Given the description of an element on the screen output the (x, y) to click on. 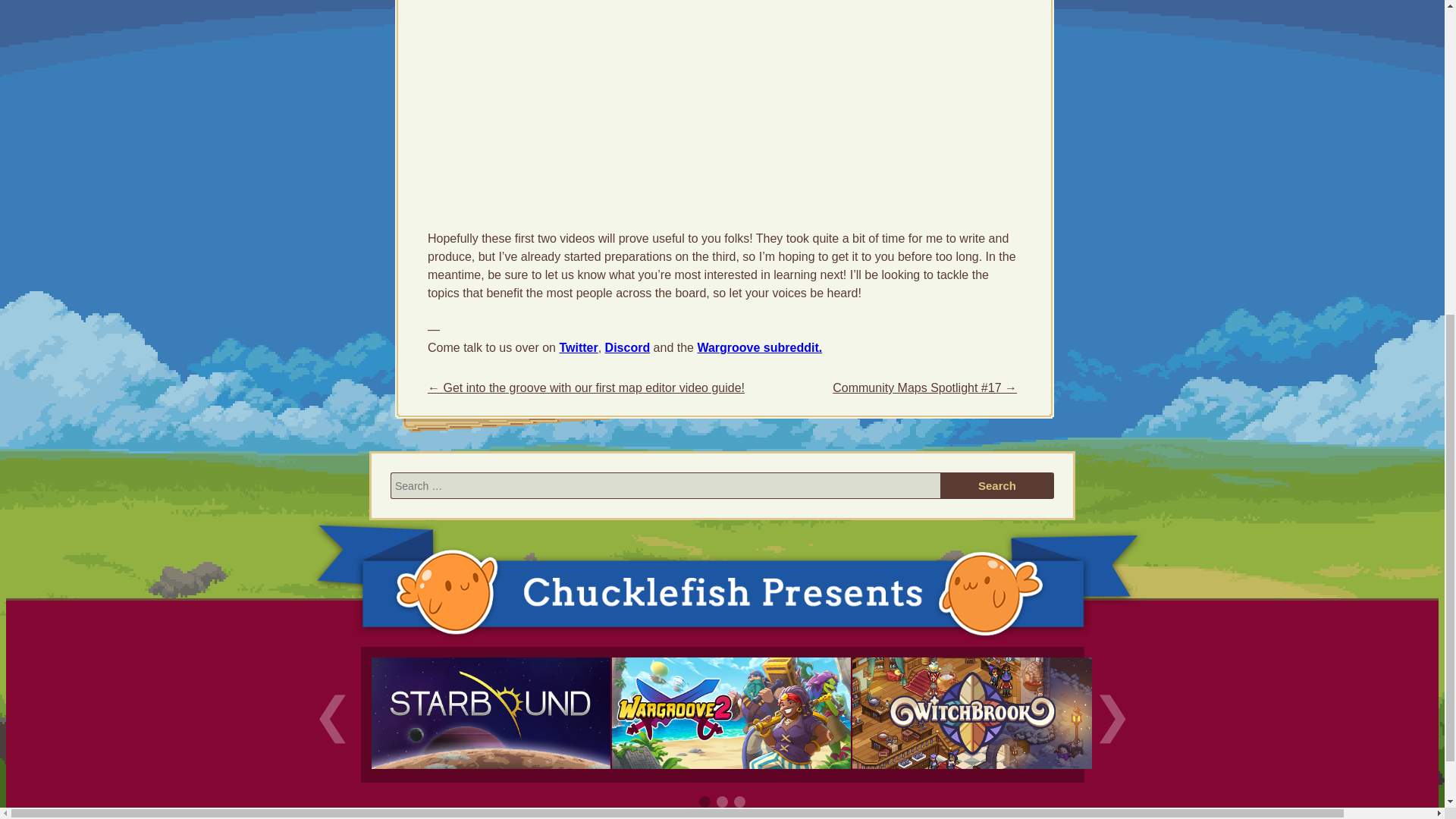
Search (997, 485)
Wargroove Map Editor: Building A Competitive Map (617, 103)
Search for: (665, 485)
Twitter (577, 347)
Search (997, 485)
Starbound (491, 773)
Wargroove subreddit. (759, 347)
Double Trouble (731, 773)
Witchbrook (971, 773)
Discord (627, 347)
Search (997, 485)
